Given the description of an element on the screen output the (x, y) to click on. 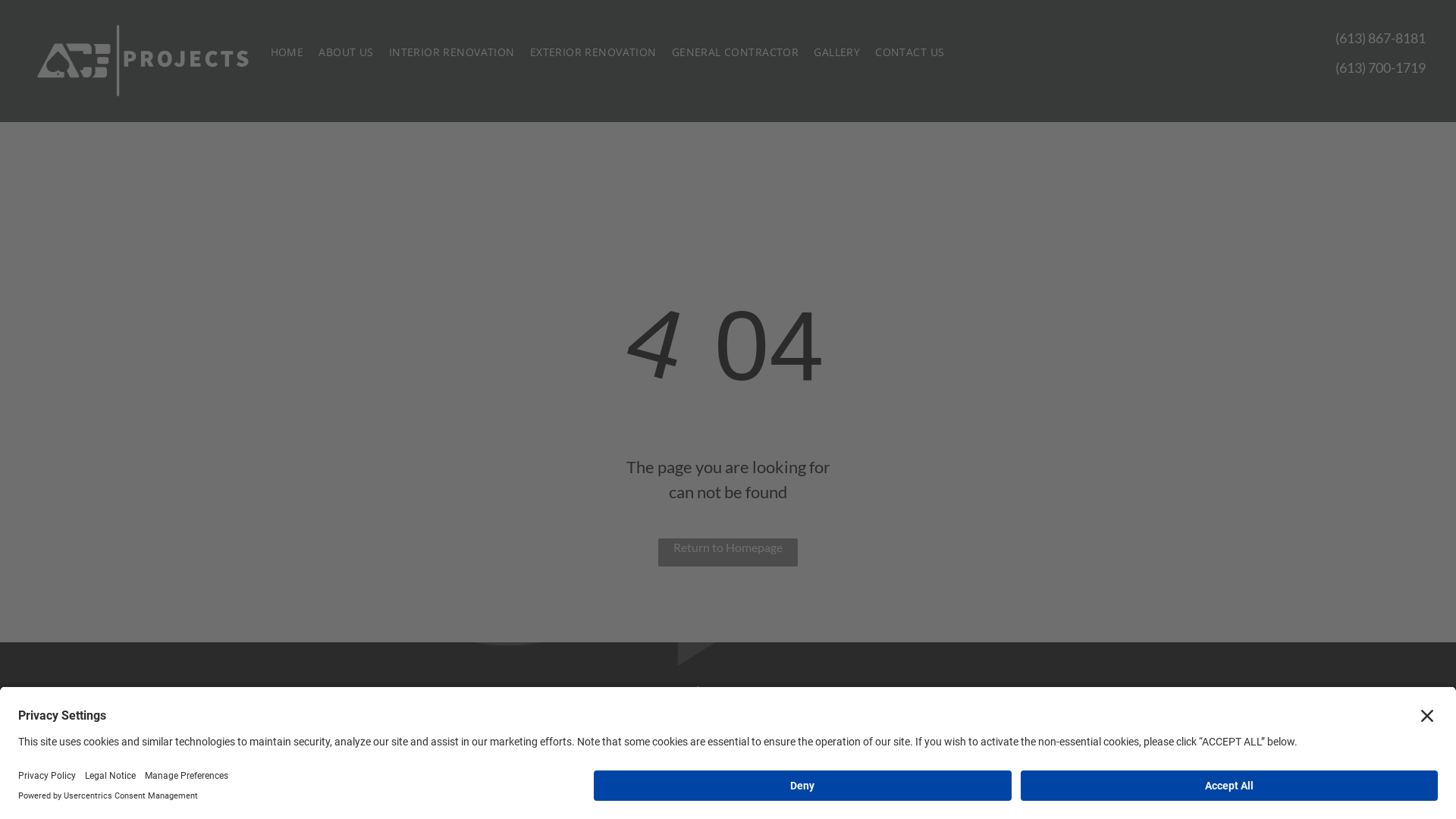
EXTERIOR RENOVATION Element type: text (593, 51)
HOME Element type: text (287, 51)
(613) 700-1719 Element type: text (1380, 67)
CONTACT US Element type: text (909, 51)
INTERIOR RENOVATION Element type: text (451, 51)
Return to Homepage Element type: text (727, 552)
(613) 867-8181 Element type: text (1380, 37)
ABOUT US Element type: text (345, 51)
GALLERY Element type: text (836, 51)
GENERAL CONTRACTOR Element type: text (735, 51)
